Given the description of an element on the screen output the (x, y) to click on. 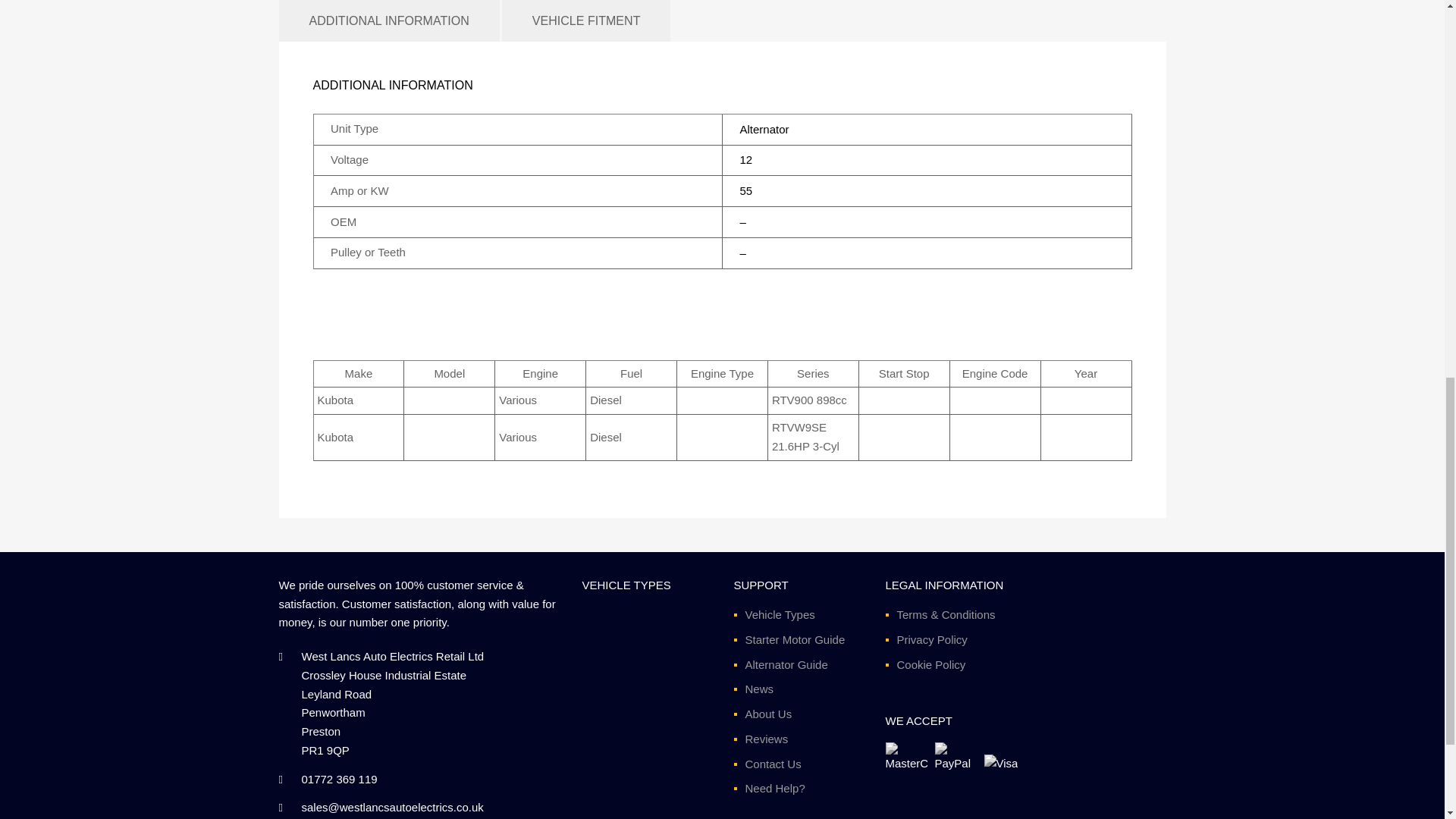
ADDITIONAL INFORMATION (389, 20)
Alternator Guide (785, 664)
Starter Motor Guide (794, 639)
VEHICLE FITMENT (586, 20)
55 (745, 190)
News (758, 688)
Vehicle Types (778, 614)
12 (745, 159)
Email us (392, 807)
Alternator (764, 128)
